Given the description of an element on the screen output the (x, y) to click on. 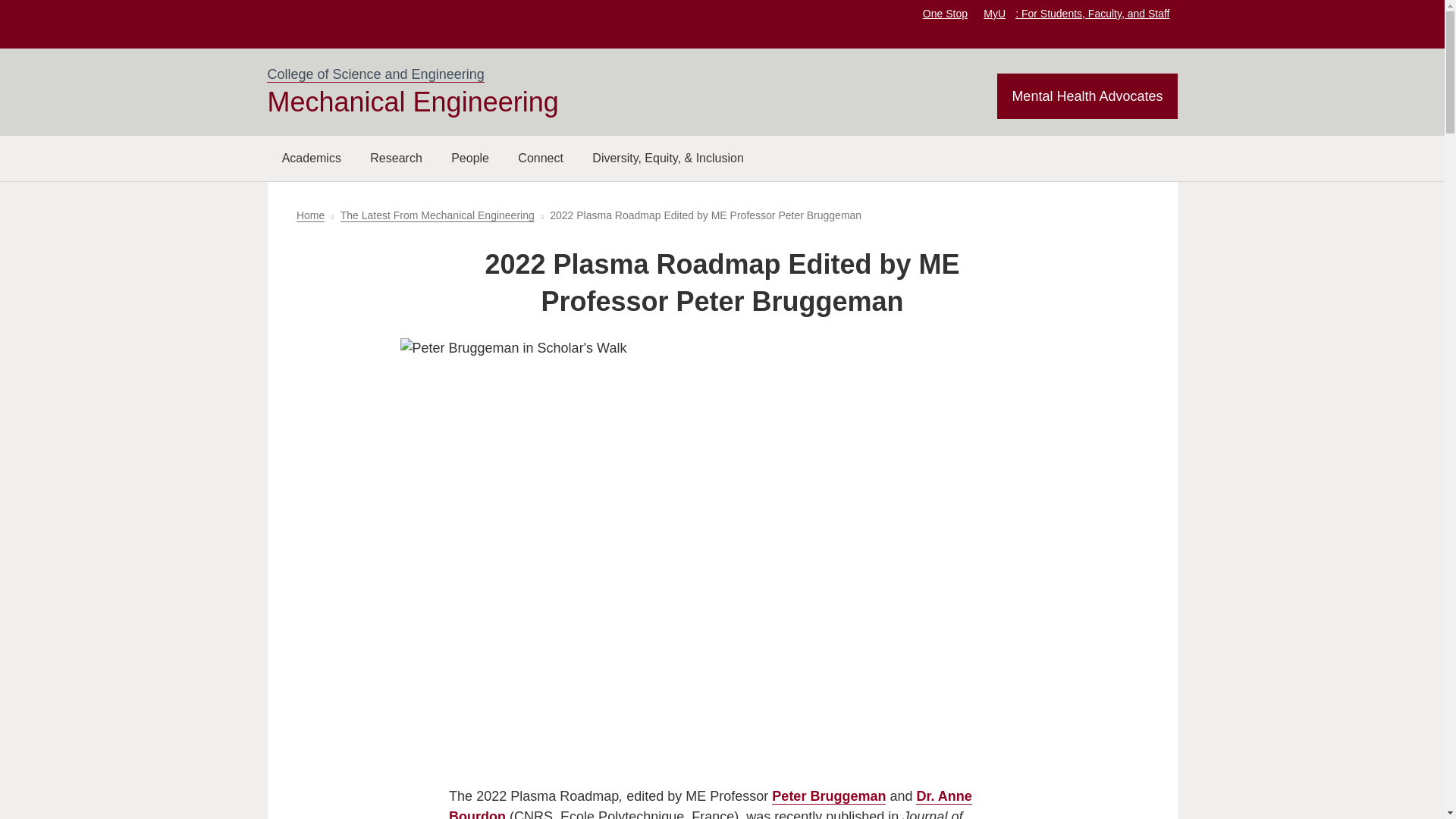
Academics (310, 157)
Research (395, 157)
Home (310, 215)
Mental Health Advocates (1086, 96)
College of Science and Engineering (374, 74)
MyU: For Students, Faculty, and Staff (1076, 13)
Mechanical Engineering (411, 101)
Who is ME? (469, 157)
One Stop (945, 13)
Connect (540, 157)
People (469, 157)
